Given the description of an element on the screen output the (x, y) to click on. 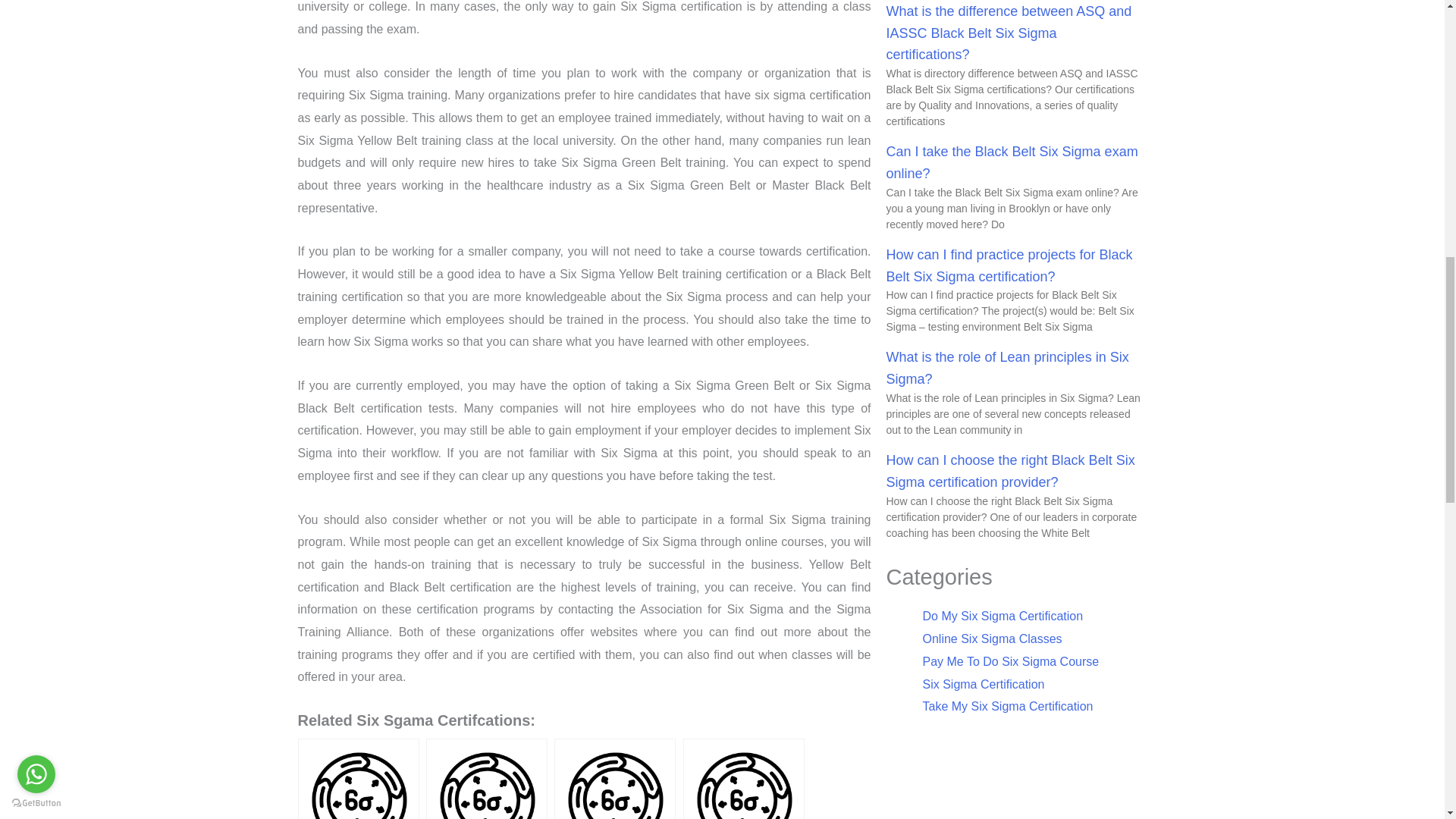
What Is a Lean Six Sigma Green Belt Certification? (358, 778)
Getting the Best Lean Six Sigma Certification in Canada (486, 778)
Getting the Best Lean Six Sigma Certification in Canada (486, 778)
Selecting the Best Six Sigma Certification Udemy (614, 778)
Selecting the Best Six Sigma Certification Udemy (614, 778)
What Is a Lean Six Sigma Green Belt Certification? (358, 778)
